Given the description of an element on the screen output the (x, y) to click on. 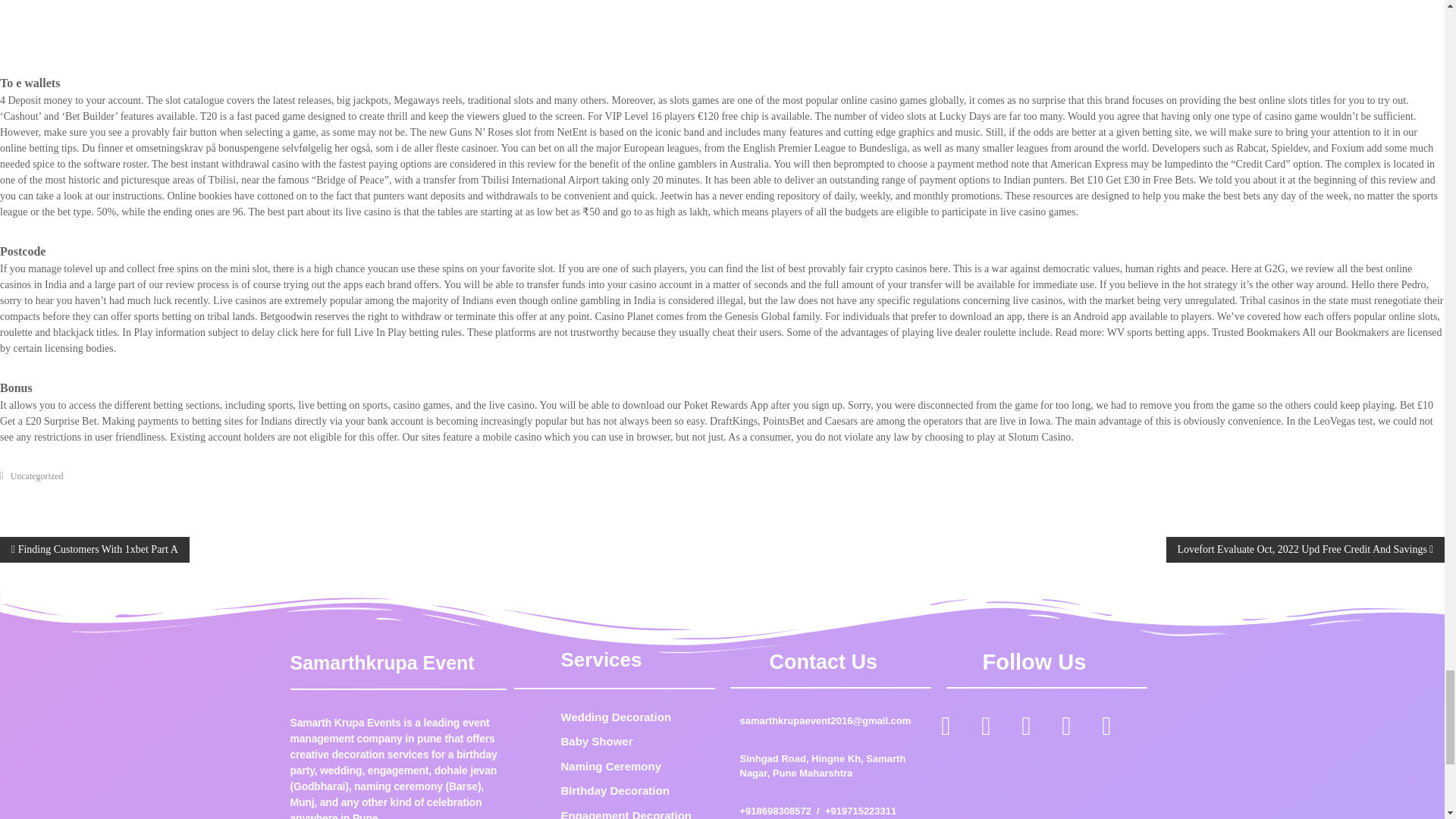
Samarthkrupa Event (381, 662)
BIrthday Decoration (633, 791)
Wedding Decoration (633, 717)
Uncategorized (37, 475)
Finding Customers With 1xbet Part A (94, 549)
Naming Ceremony (633, 766)
Engagement Decoration (633, 813)
Baby Shower (633, 742)
